Given the description of an element on the screen output the (x, y) to click on. 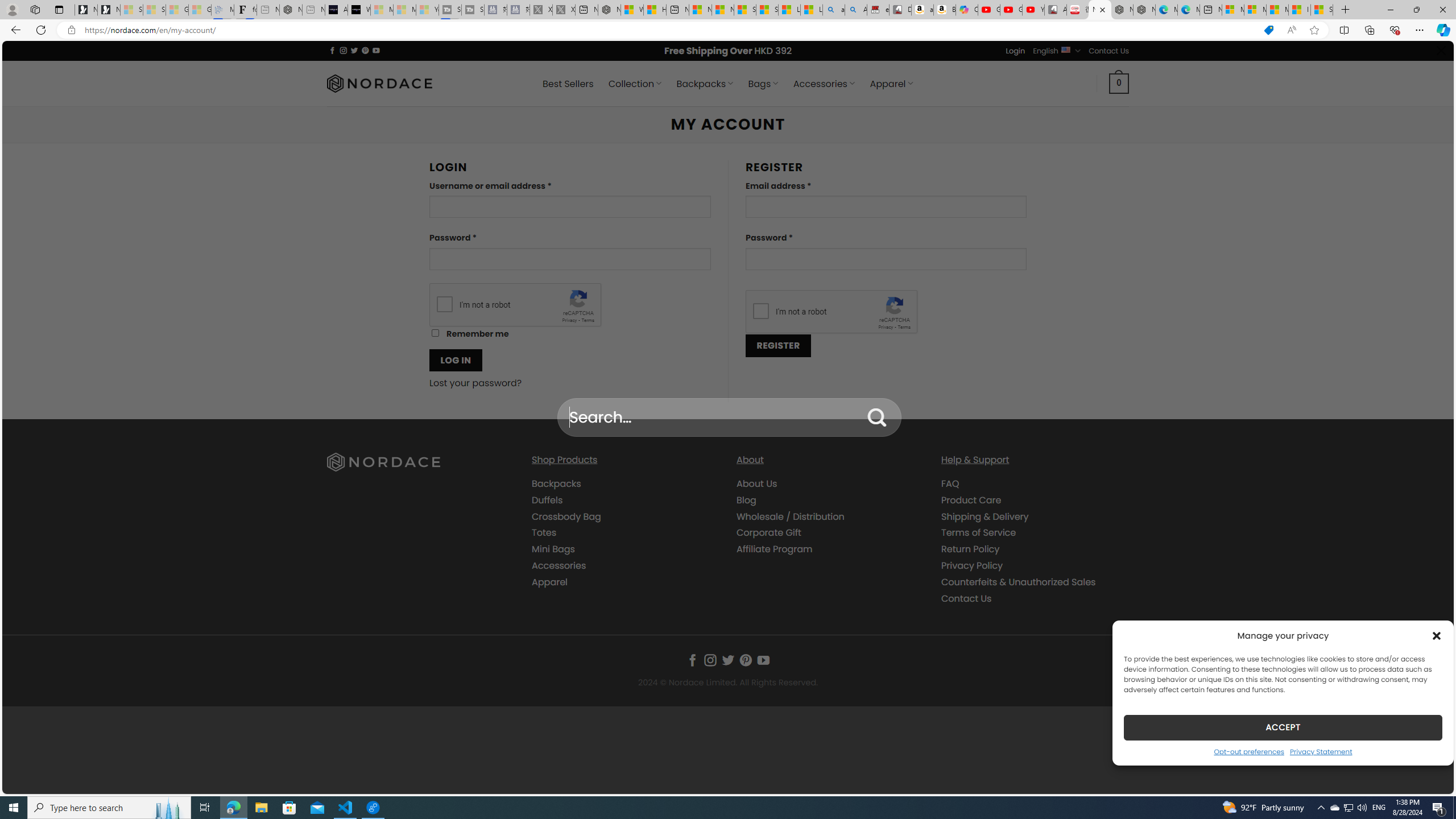
ACCEPT (1283, 727)
LOG IN (455, 359)
English (1065, 49)
Return Policy (970, 549)
Terms (903, 326)
New tab - Sleeping (313, 9)
Accessories (558, 565)
Privacy (885, 326)
Product Care (970, 499)
